Given the description of an element on the screen output the (x, y) to click on. 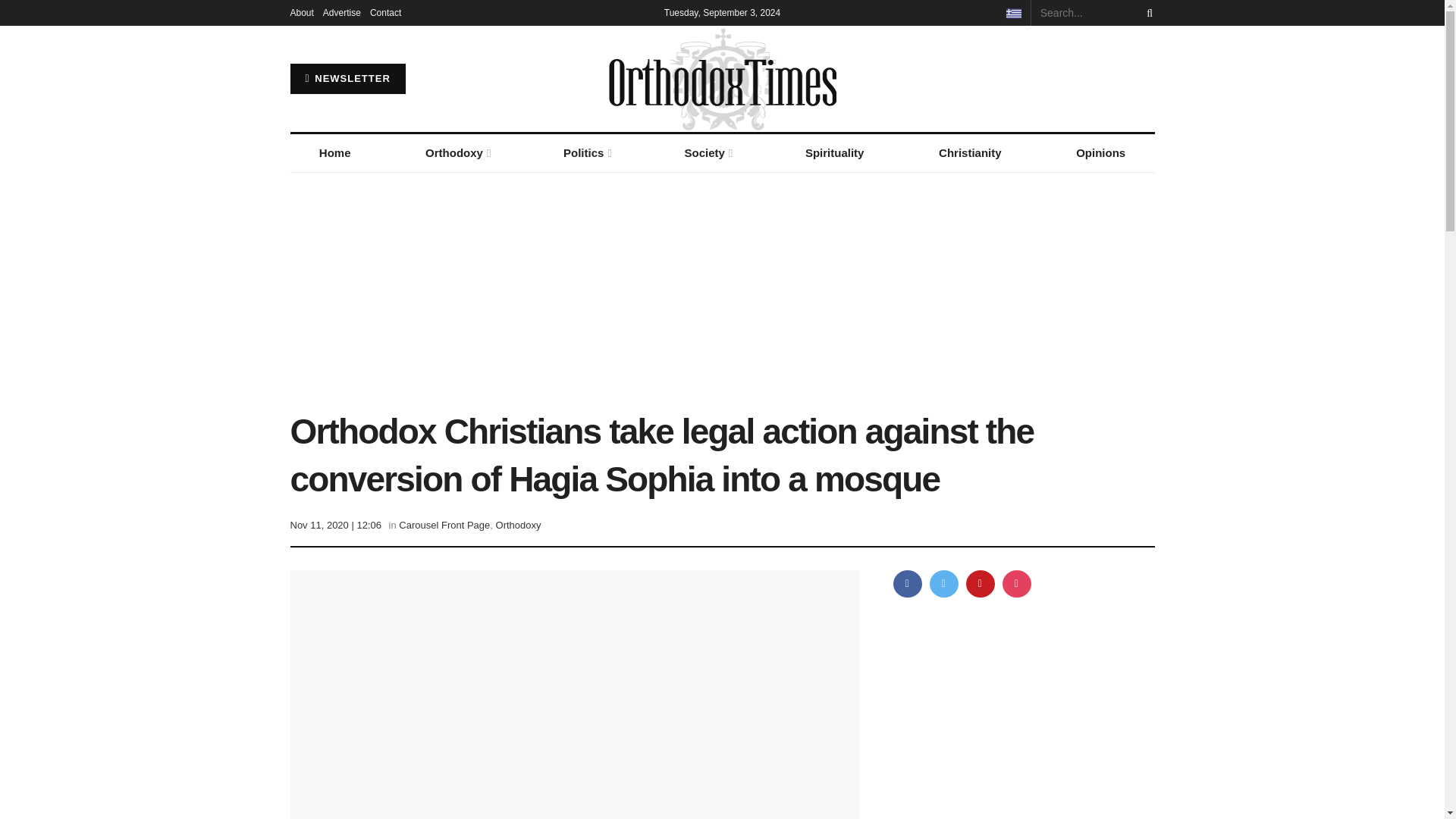
Spirituality (834, 152)
Society (706, 152)
NEWSLETTER (346, 78)
Advertise (342, 12)
Home (333, 152)
Contact (385, 12)
Politics (586, 152)
About (301, 12)
Orthodoxy (457, 152)
